Given the description of an element on the screen output the (x, y) to click on. 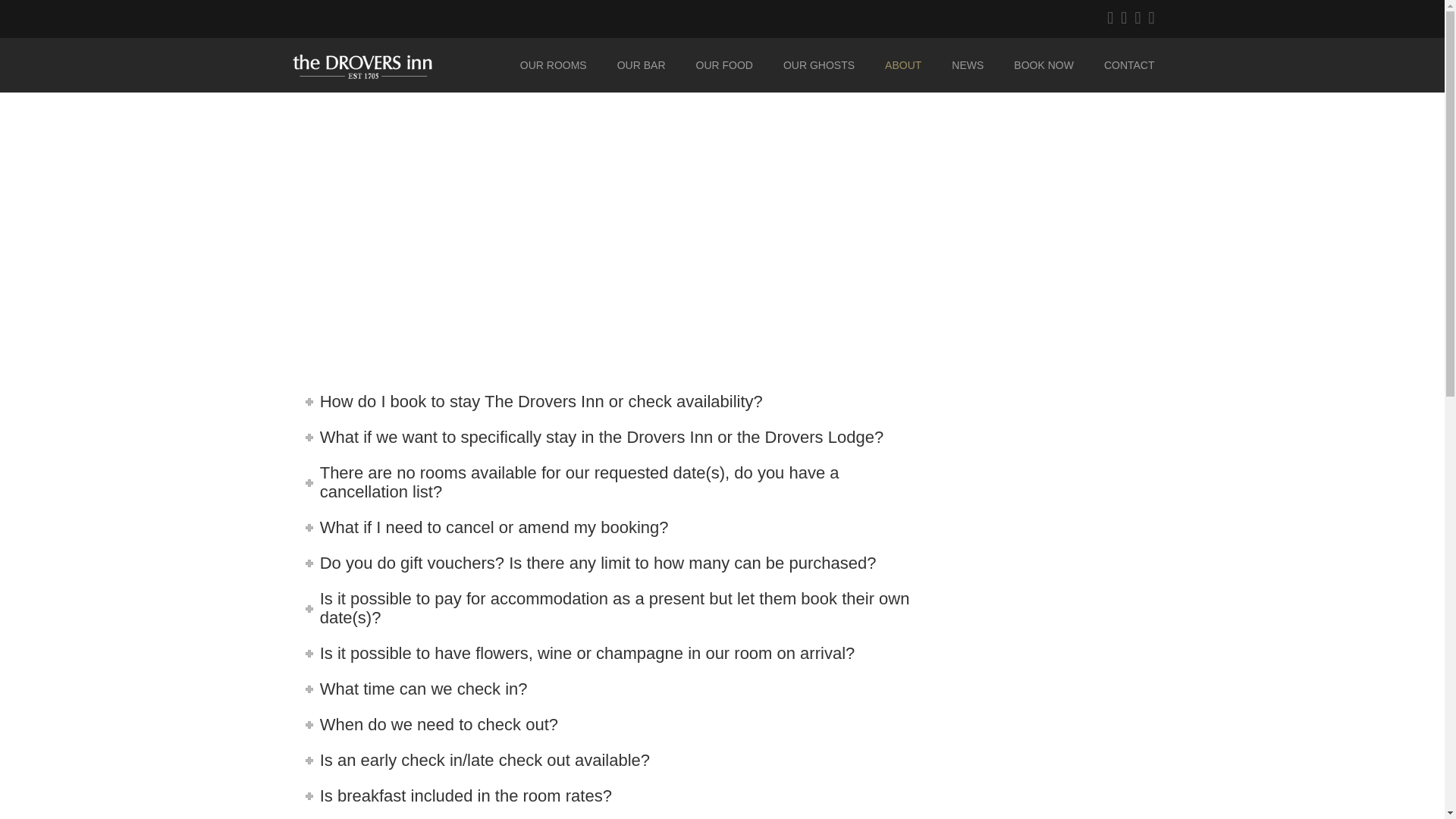
OUR BAR (641, 64)
The Drovers Inn Loch Lomond (394, 64)
OUR FOOD (724, 64)
OUR GHOSTS (818, 64)
OUR ROOMS (553, 64)
NEWS (967, 64)
BOOK NOW (1043, 64)
ABOUT (902, 64)
CONTACT (1121, 64)
